Given the description of an element on the screen output the (x, y) to click on. 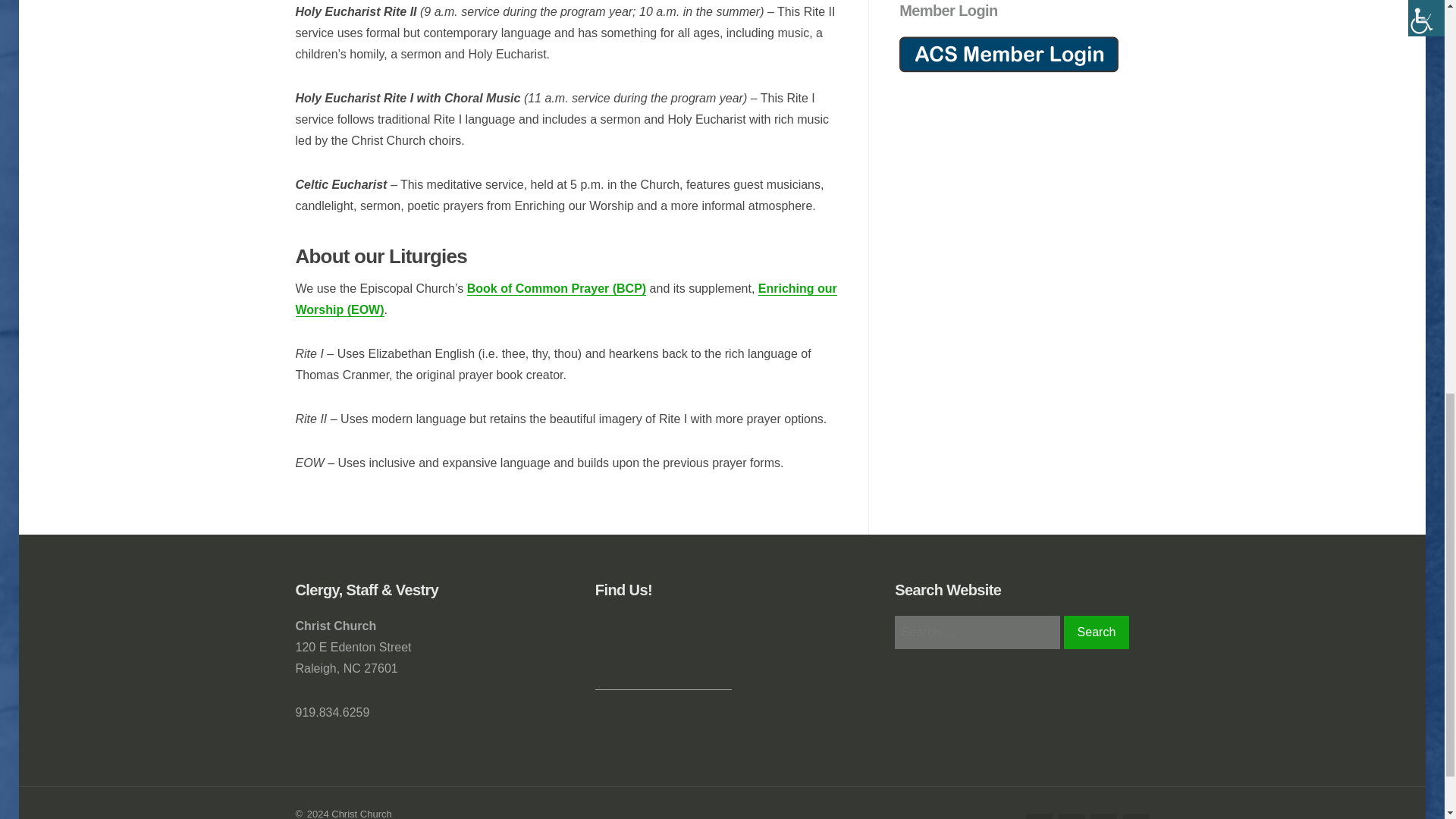
Search (1096, 632)
Search (1096, 632)
